Given the description of an element on the screen output the (x, y) to click on. 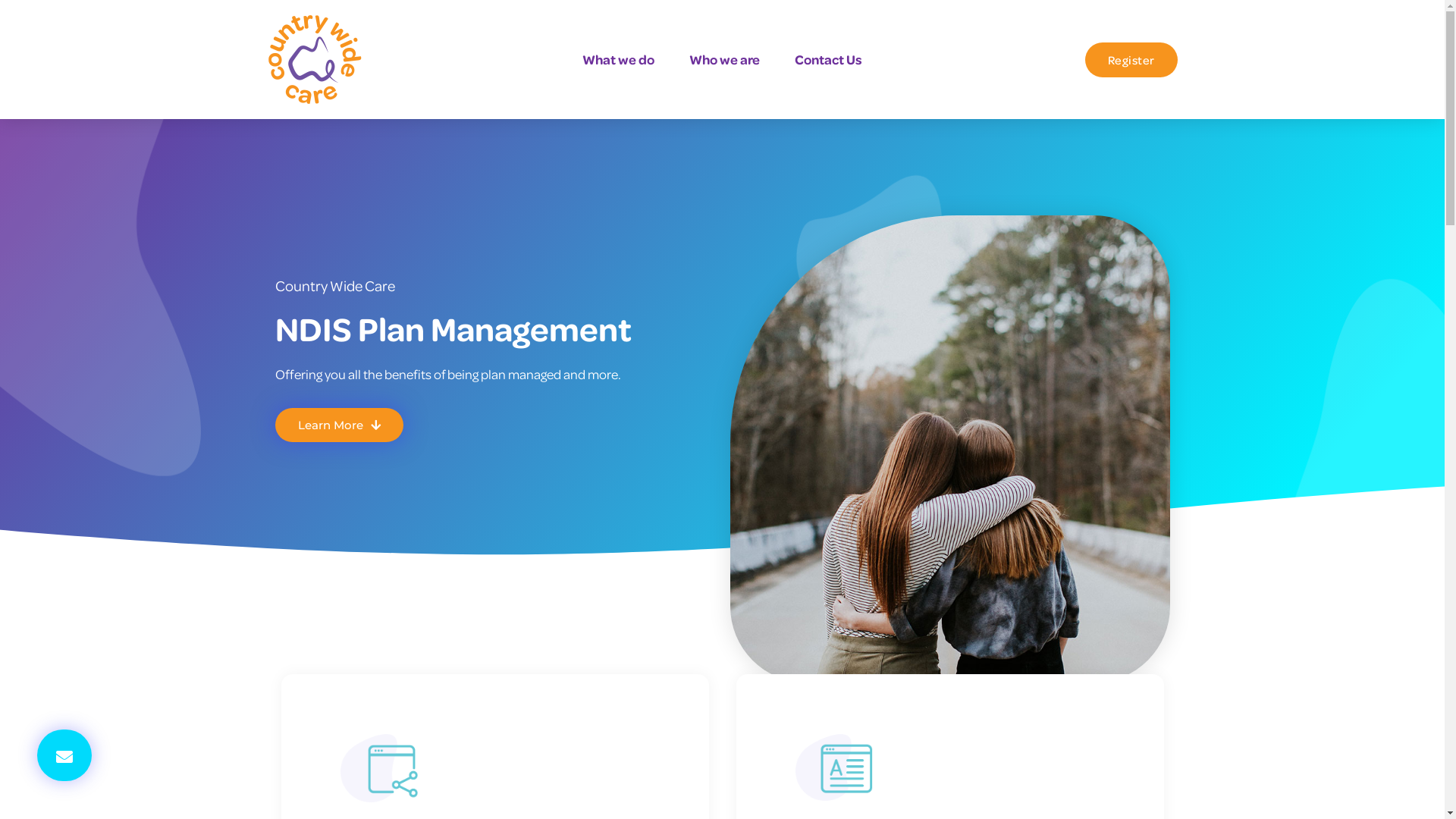
Register Element type: text (1130, 59)
What we do Element type: text (618, 59)
Who we are Element type: text (724, 59)
Contact Us Element type: text (828, 59)
Learn More Element type: text (338, 424)
